Given the description of an element on the screen output the (x, y) to click on. 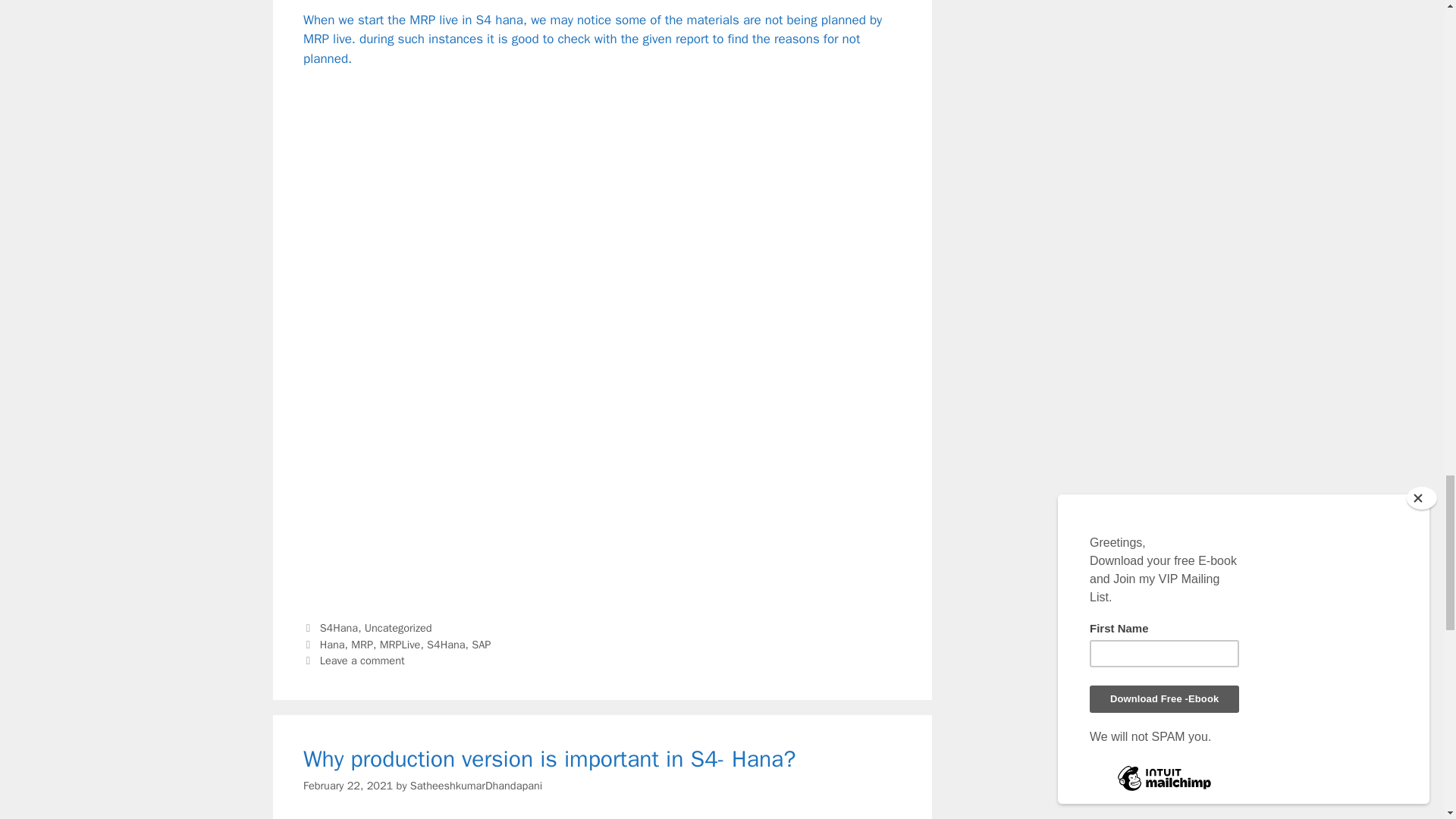
Uncategorized (398, 627)
View all posts by SatheeshkumarDhandapani (475, 785)
February 22, 2021 (347, 785)
SAP (480, 644)
MRPLive (400, 644)
9:15 pm (347, 785)
S4Hana (445, 644)
Hana (332, 644)
MRP (361, 644)
SatheeshkumarDhandapani (475, 785)
S4Hana (339, 627)
Leave a comment (362, 660)
Why production version is important in S4- Hana? (548, 758)
